Given the description of an element on the screen output the (x, y) to click on. 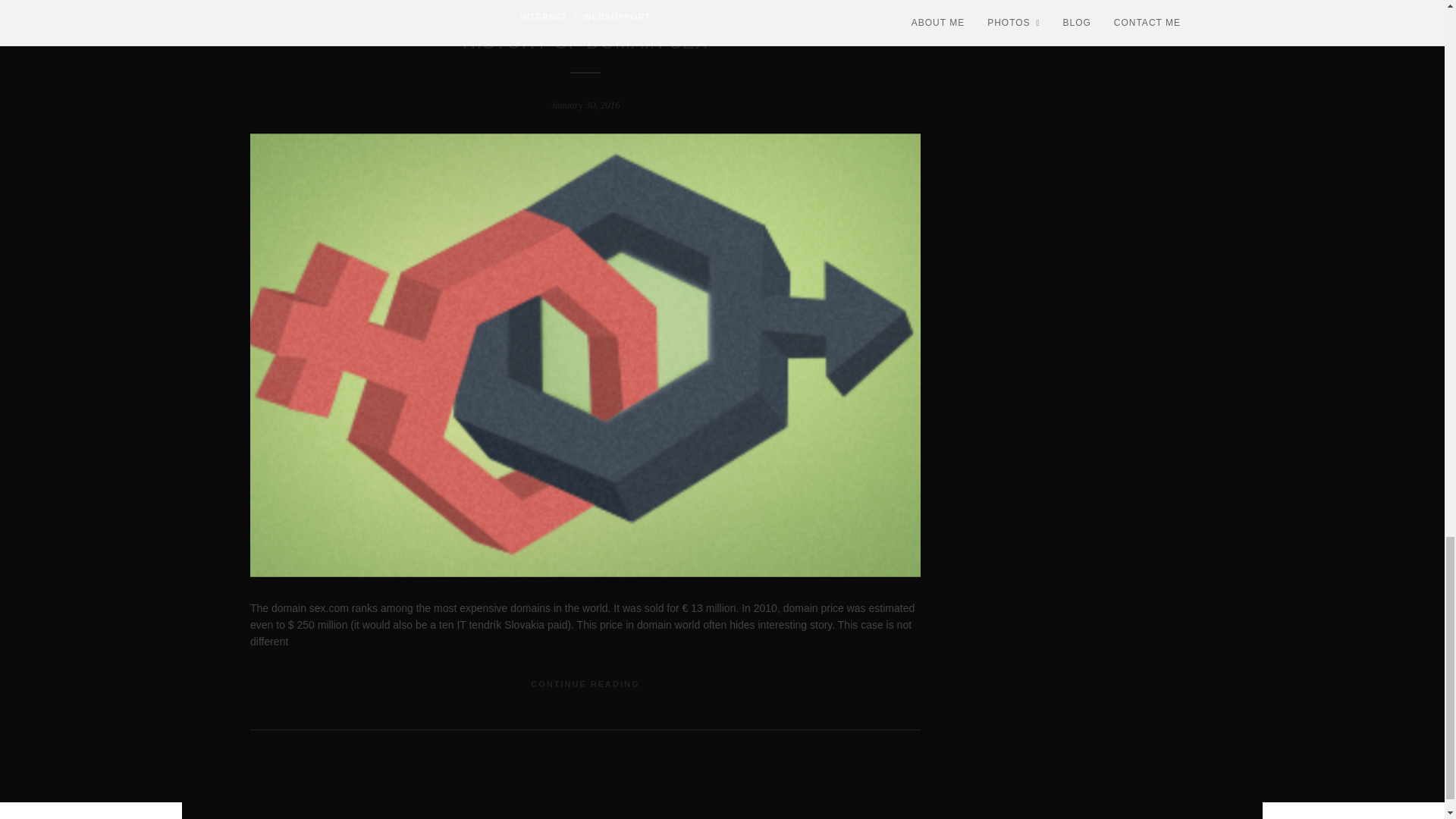
Instagram (1106, 817)
HISTORY OF DOMAIN SEX (585, 41)
WEBSUPPORT (616, 16)
CONTINUE READING (585, 683)
Linkedin (1133, 817)
History of domain sex (585, 41)
INTERNET (543, 16)
